Given the description of an element on the screen output the (x, y) to click on. 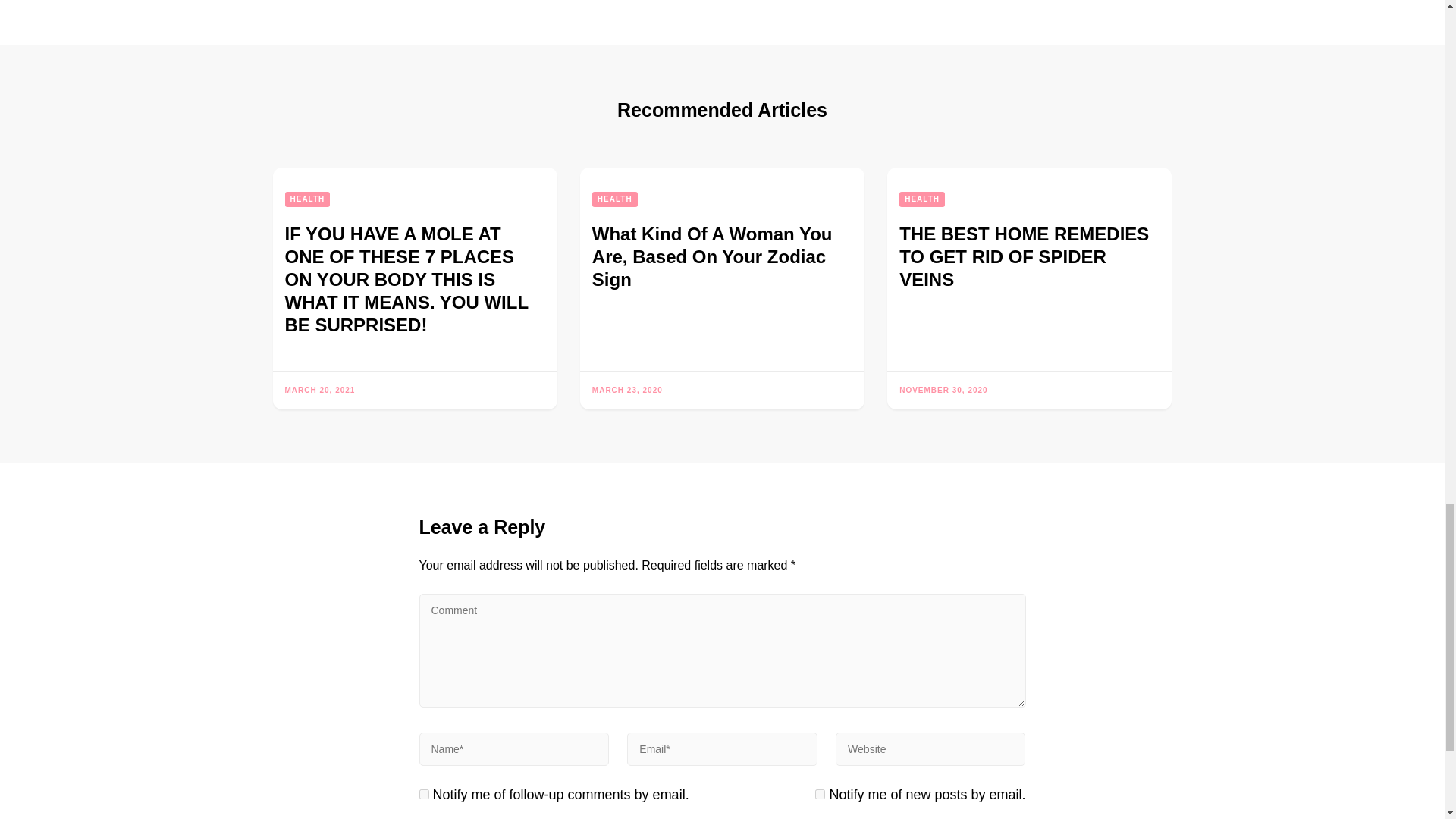
What Kind Of A Woman You Are, Based On Your Zodiac Sign (712, 256)
HEALTH (921, 199)
HEALTH (307, 199)
subscribe (820, 794)
subscribe (423, 794)
MARCH 20, 2021 (320, 389)
MARCH 23, 2020 (627, 389)
THE BEST HOME REMEDIES TO GET RID OF SPIDER VEINS (1023, 256)
HEALTH (614, 199)
